Given the description of an element on the screen output the (x, y) to click on. 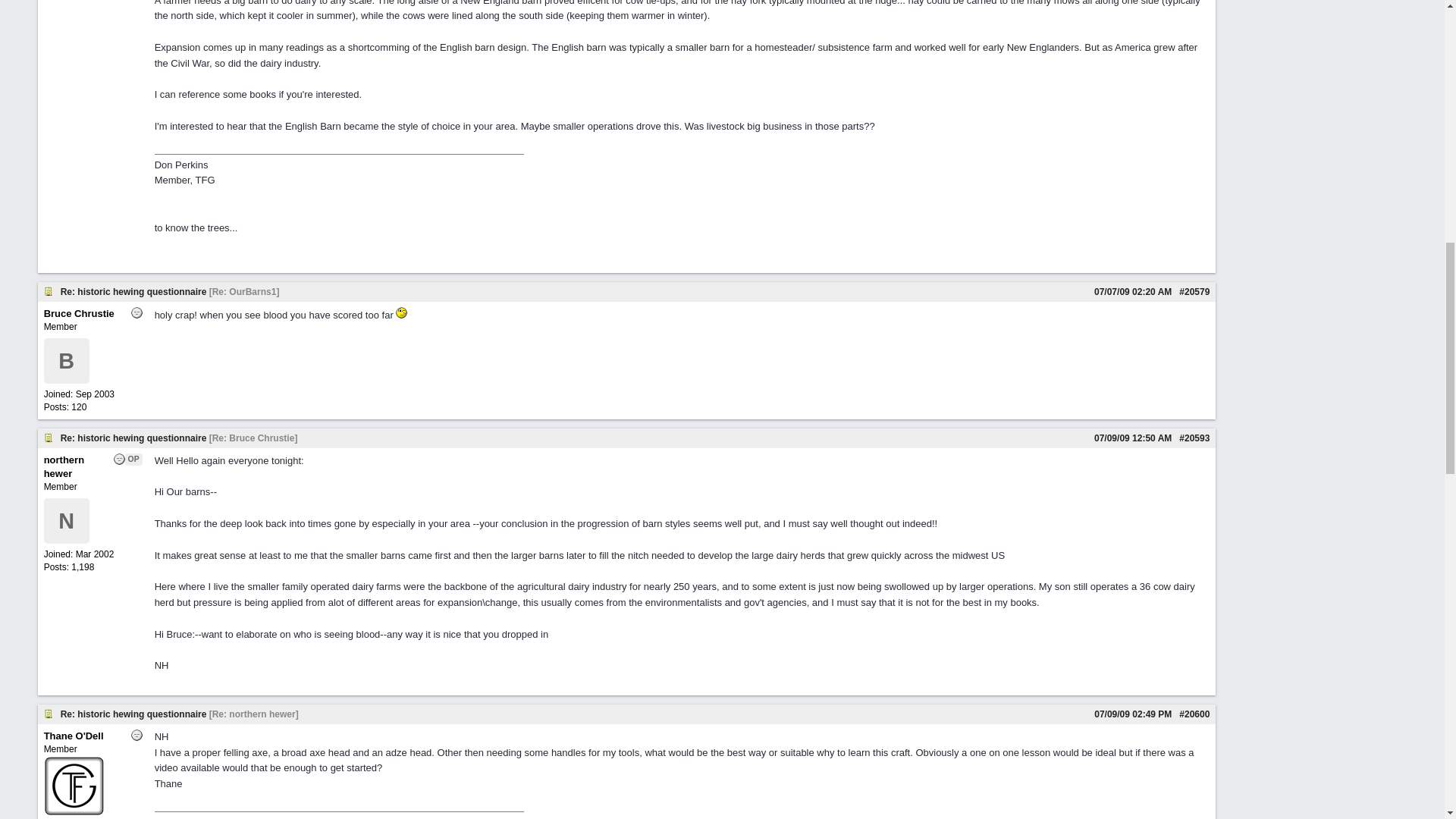
Re: OurBarns1 (244, 291)
Bruce Chrustie (79, 313)
